Given the description of an element on the screen output the (x, y) to click on. 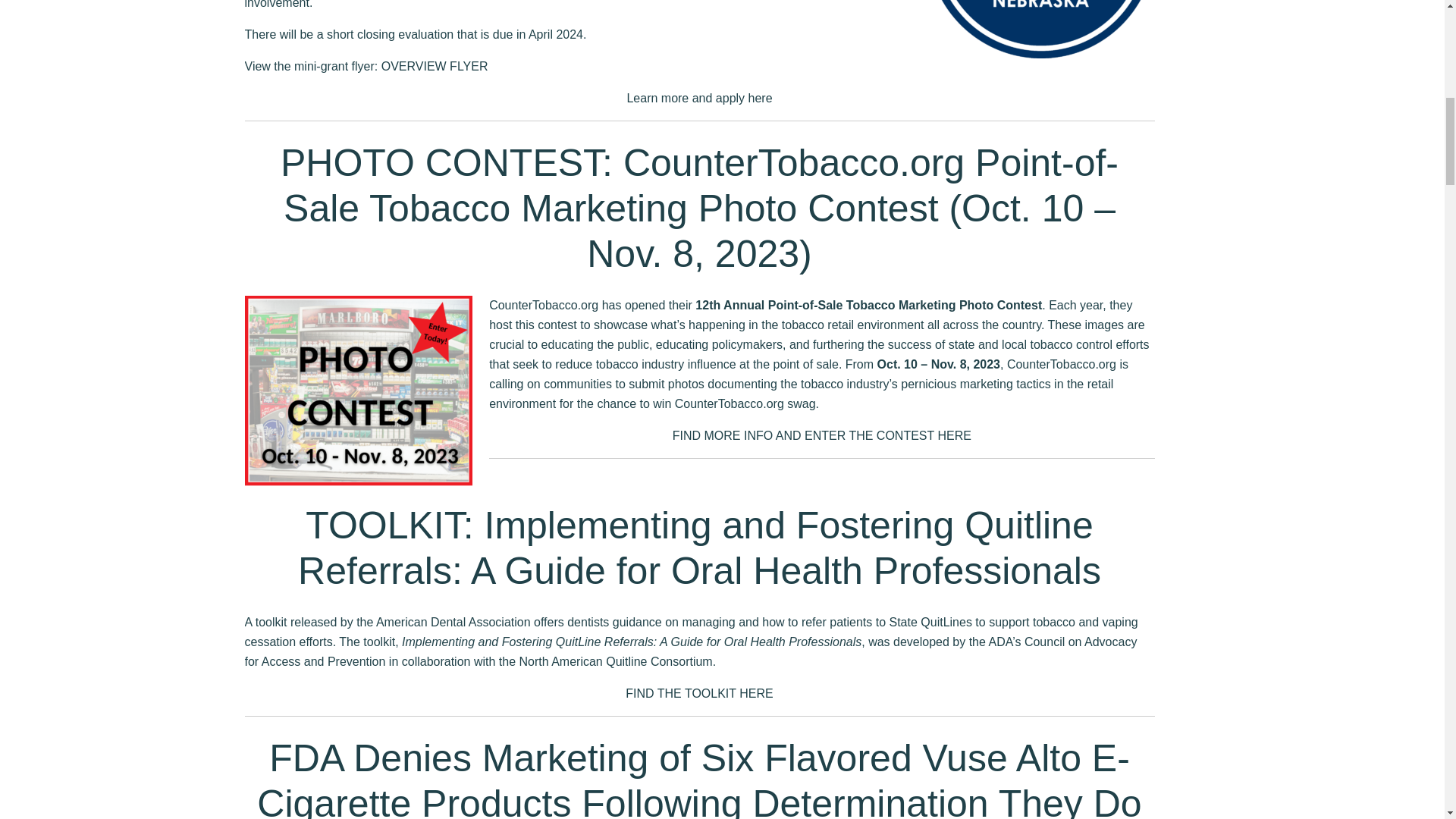
FIND MORE INFO AND ENTER THE CONTEST HERE (821, 435)
FIND THE TOOLKIT HERE (699, 693)
toolkit (271, 621)
OVERVIEW FLYER (434, 65)
Learn more and apply here (698, 97)
CounterTobacco.org (543, 305)
